Given the description of an element on the screen output the (x, y) to click on. 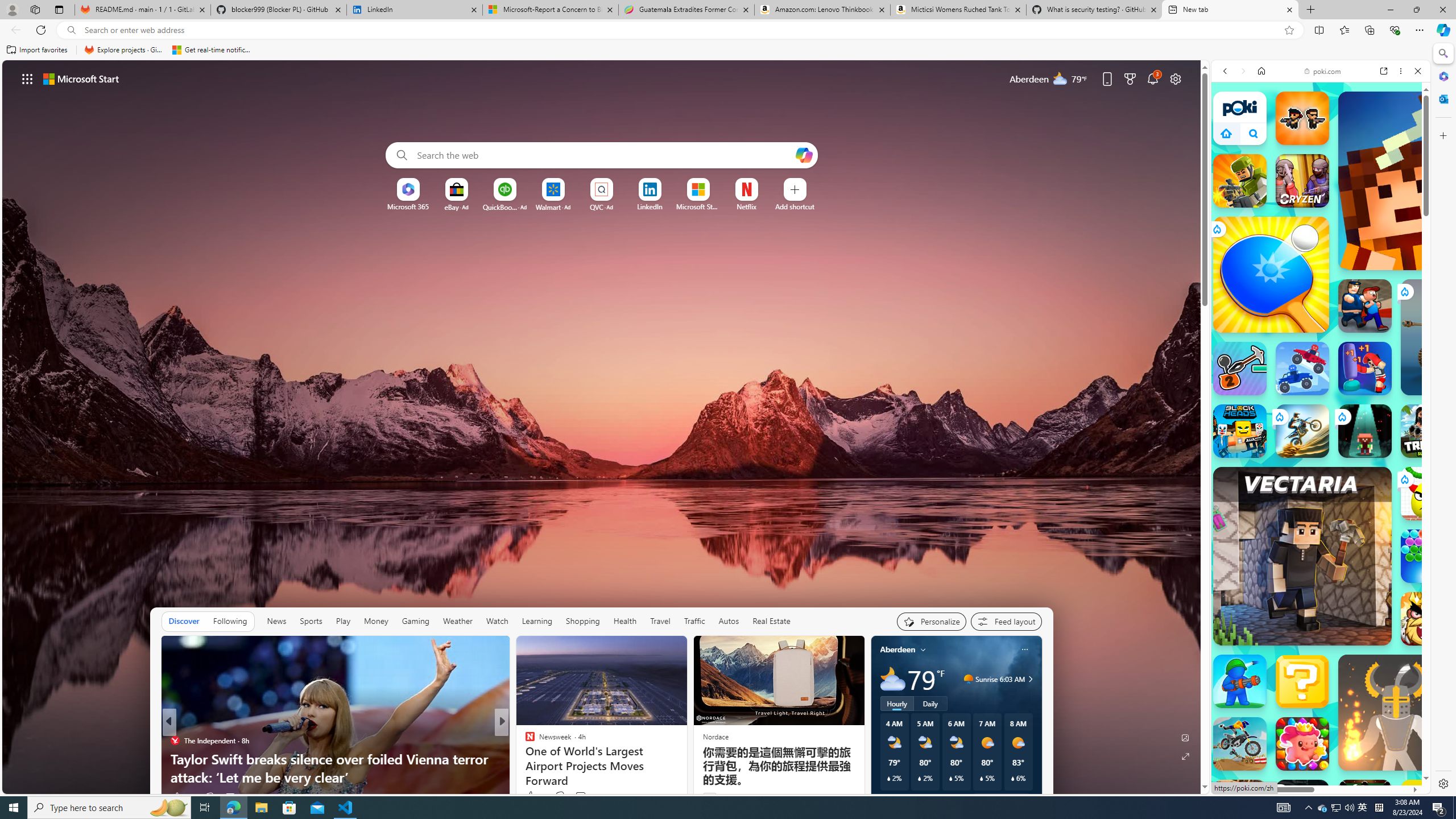
Tribals.io Tribals.io (1427, 430)
View comments 2 Comment (583, 796)
Ping Pong Go! (1270, 274)
